Given the description of an element on the screen output the (x, y) to click on. 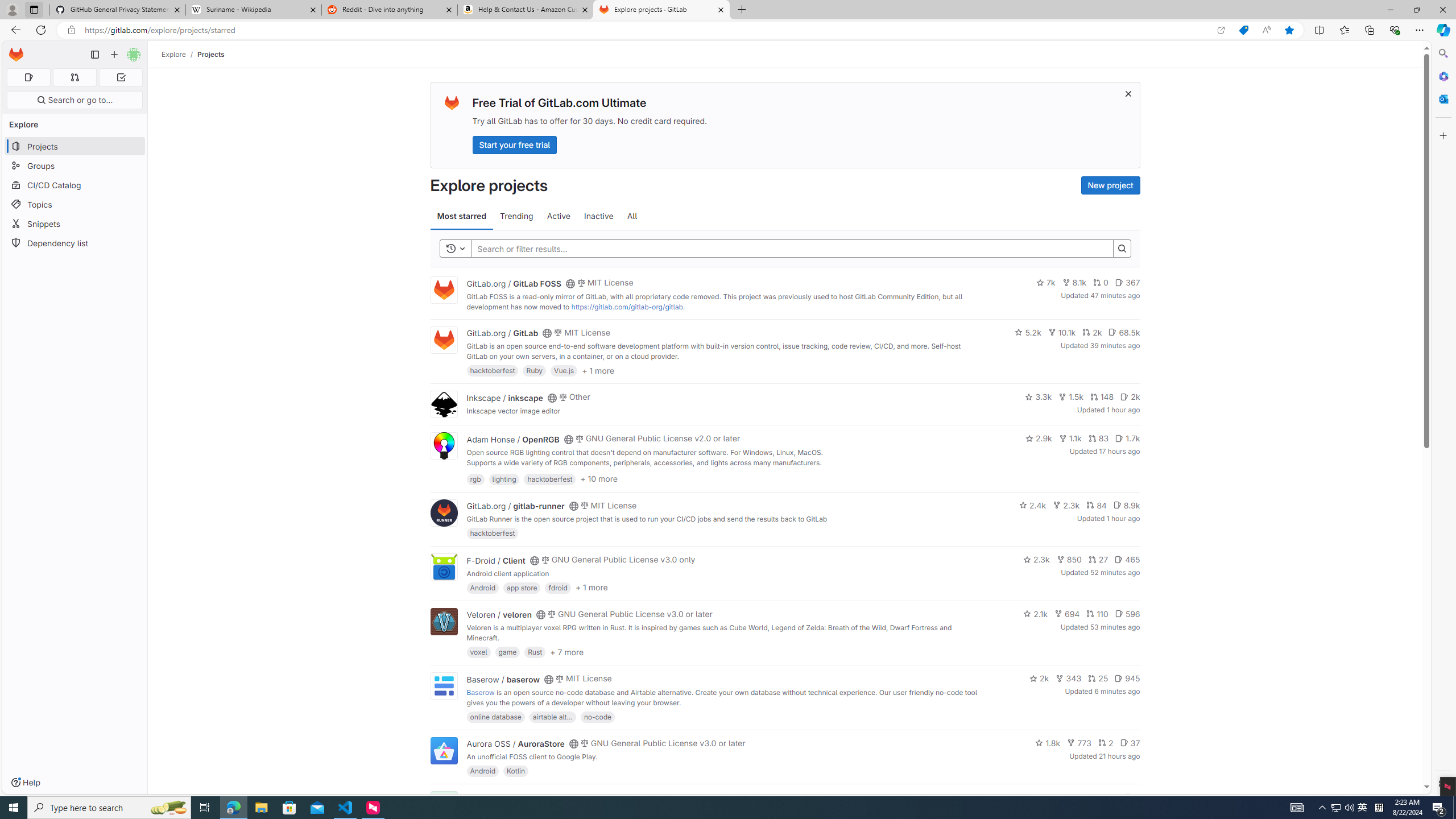
voxel (478, 651)
Dismiss trial promotion (1128, 93)
Android (482, 770)
Inactive (598, 216)
37 (1129, 742)
Baserow / baserow (502, 678)
https://gitlab.com/gitlab-org/gitlab (626, 306)
Groups (74, 165)
